Given the description of an element on the screen output the (x, y) to click on. 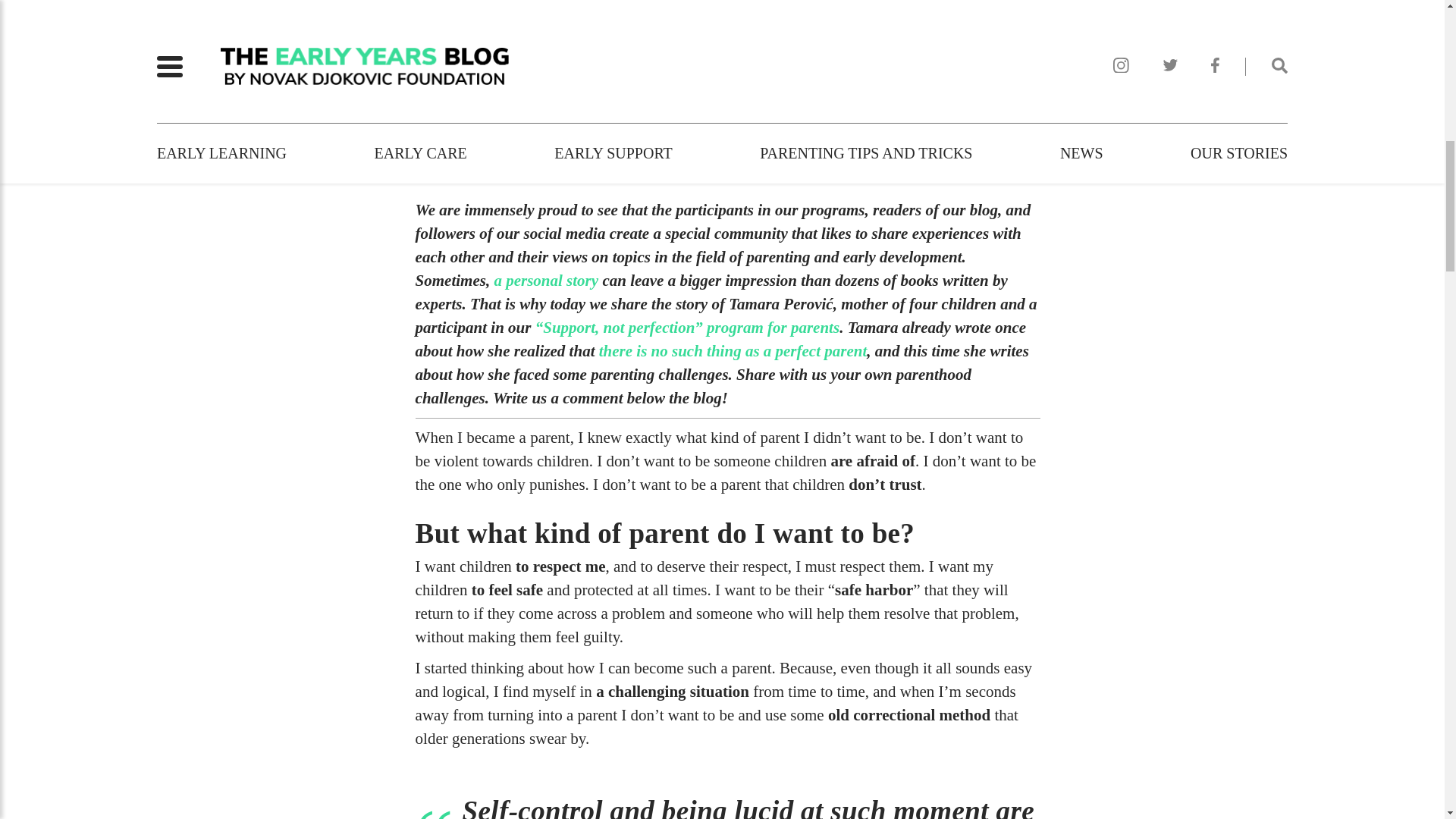
there is no such thing as a perfect parent (732, 351)
a personal story (545, 280)
